Given the description of an element on the screen output the (x, y) to click on. 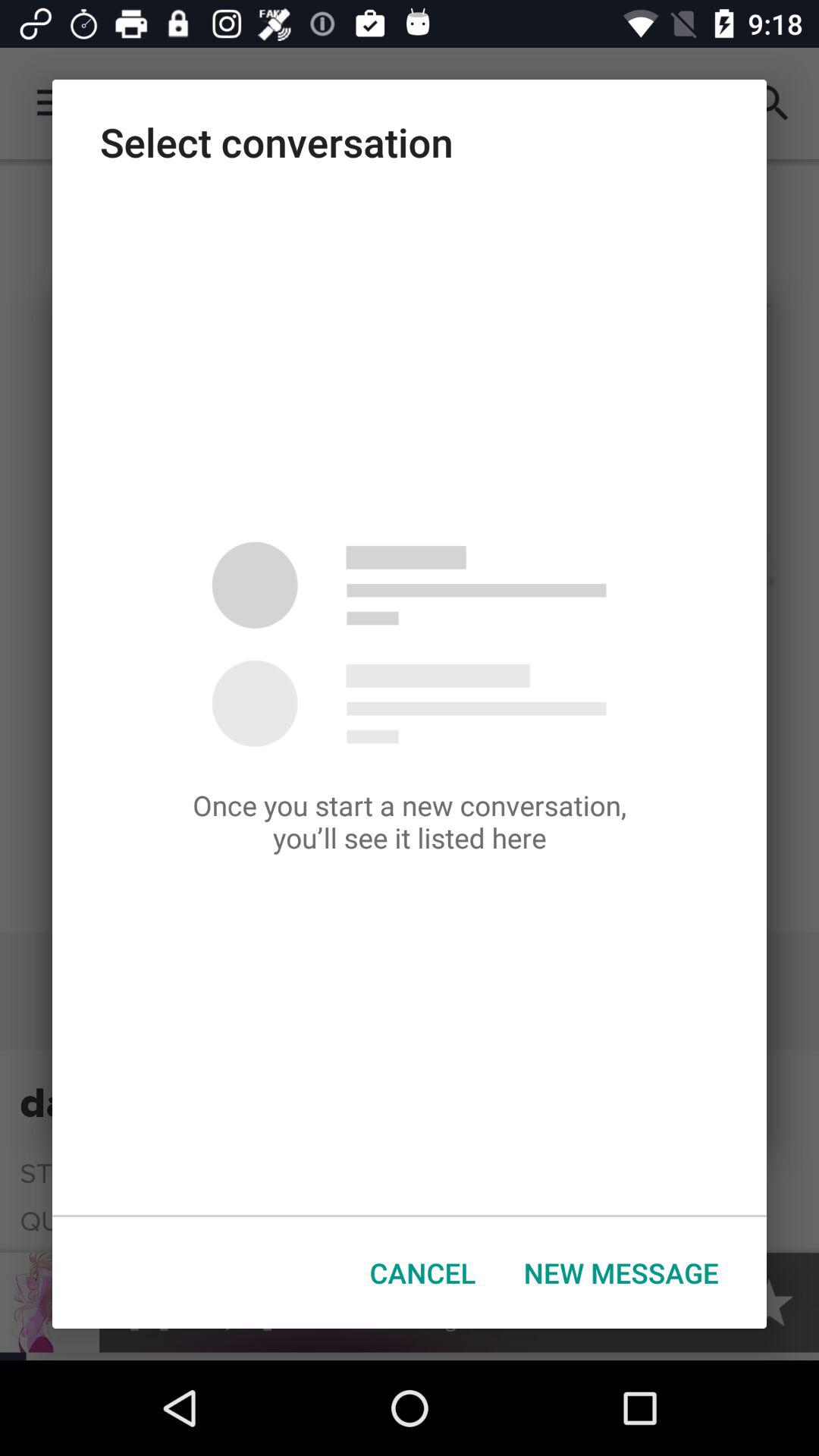
open the button to the right of the cancel (620, 1272)
